Given the description of an element on the screen output the (x, y) to click on. 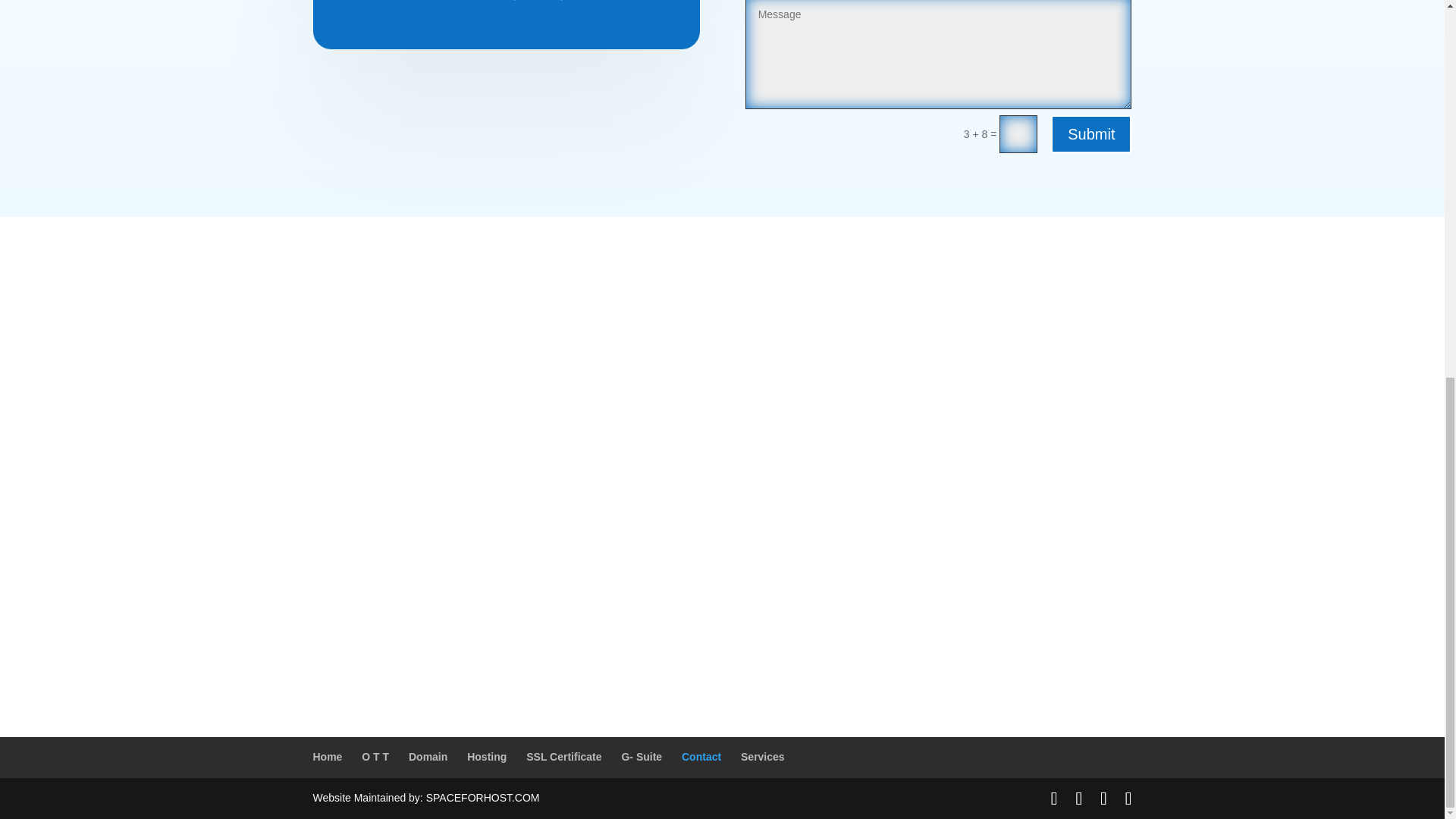
G- Suite (641, 756)
Contact (700, 756)
Hosting (486, 756)
Services (762, 756)
SSL Certificate (563, 756)
Domain (427, 756)
Home (327, 756)
O T T (374, 756)
Submit (1091, 134)
